Given the description of an element on the screen output the (x, y) to click on. 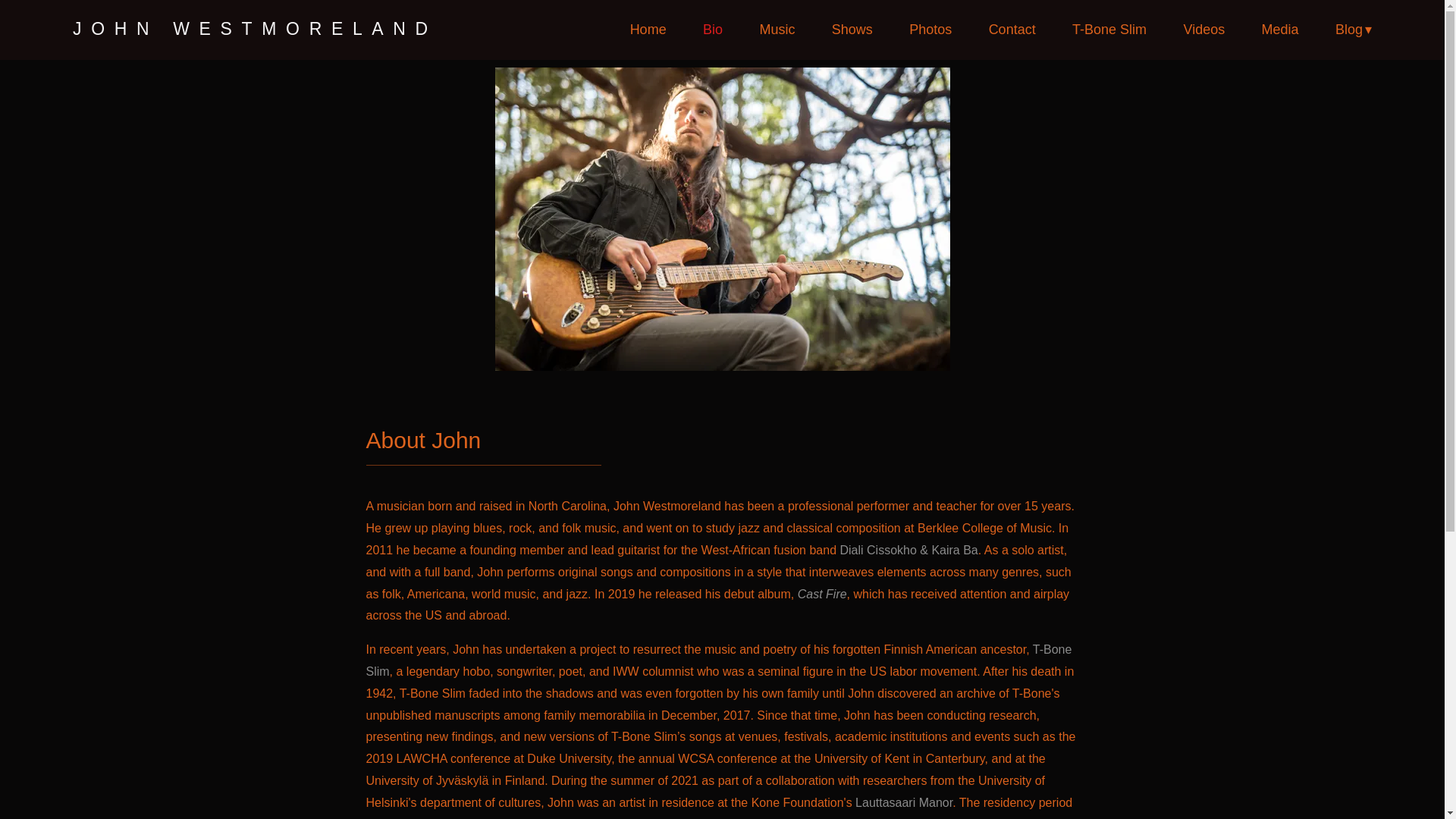
Contact (1011, 29)
Home (648, 29)
T-Bone Slim (1109, 29)
Media (1280, 29)
Shows (851, 29)
Bio (712, 29)
JOHN WESTMORELAND (255, 28)
Music (776, 29)
T-Bone Slim (718, 660)
Videos (1203, 29)
